Given the description of an element on the screen output the (x, y) to click on. 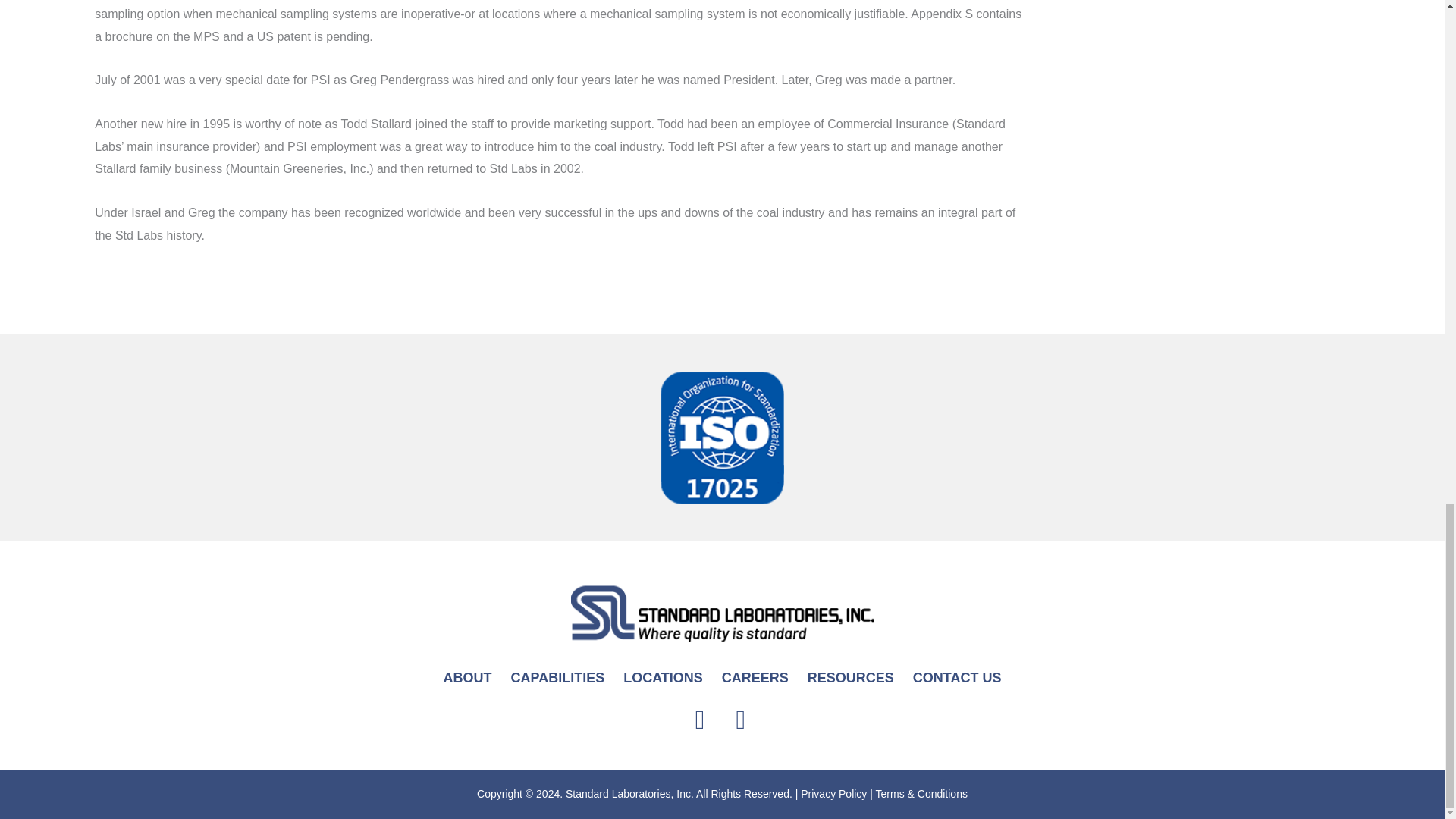
ABOUT (467, 678)
CAPABILITIES (557, 678)
